Given the description of an element on the screen output the (x, y) to click on. 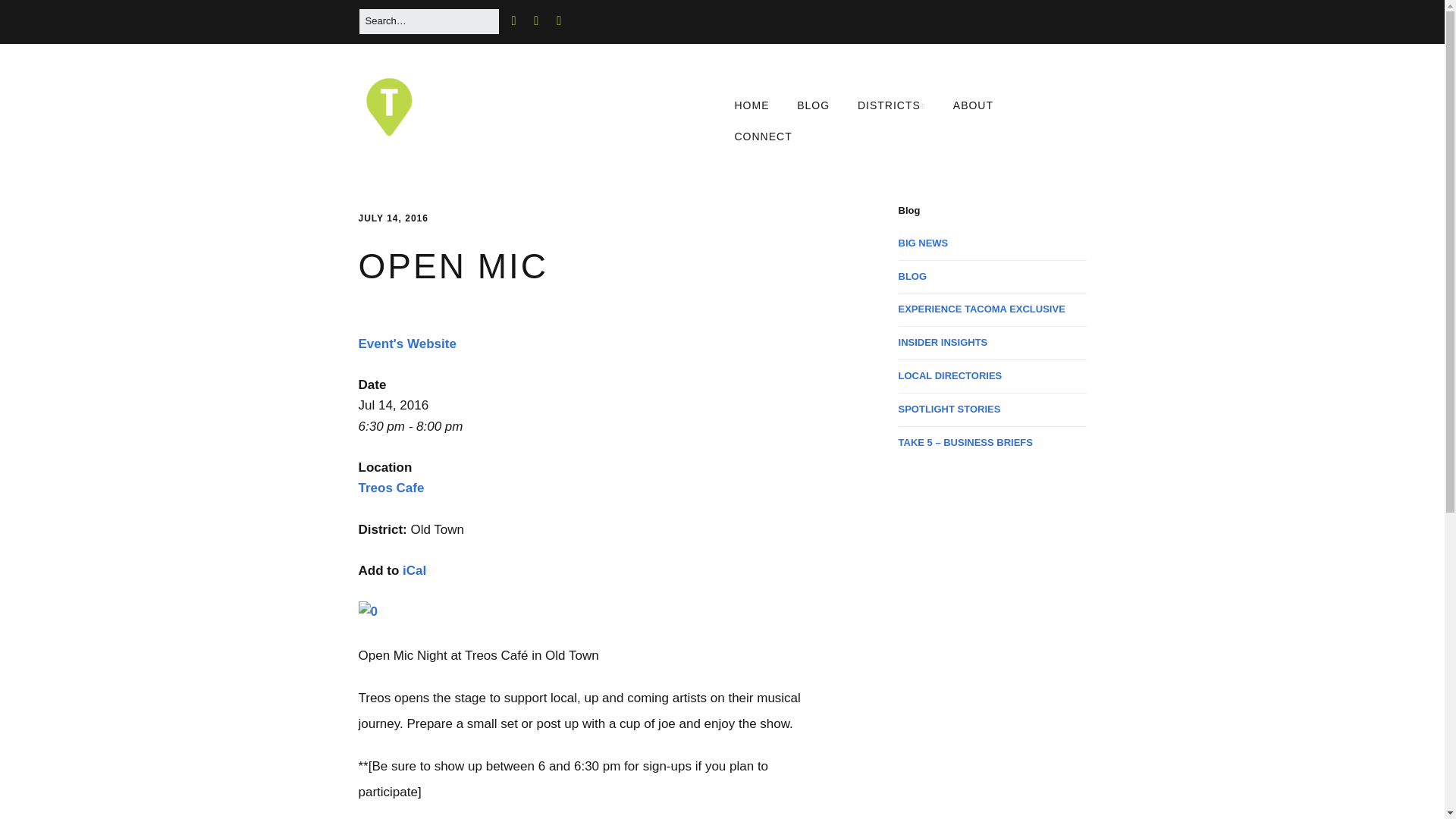
EXPERIENCE TACOMA EXCLUSIVE (981, 308)
Press Enter to submit your search (428, 21)
Search (29, 16)
HOME (751, 106)
INSIDER INSIGHTS (943, 342)
BLOG (812, 106)
Treos Cafe (390, 487)
CONNECT (762, 137)
DISTRICTS (891, 106)
Event's Website (406, 343)
ABOUT (973, 106)
iCal (414, 570)
BIG NEWS (923, 242)
BLOG (912, 276)
